Given the description of an element on the screen output the (x, y) to click on. 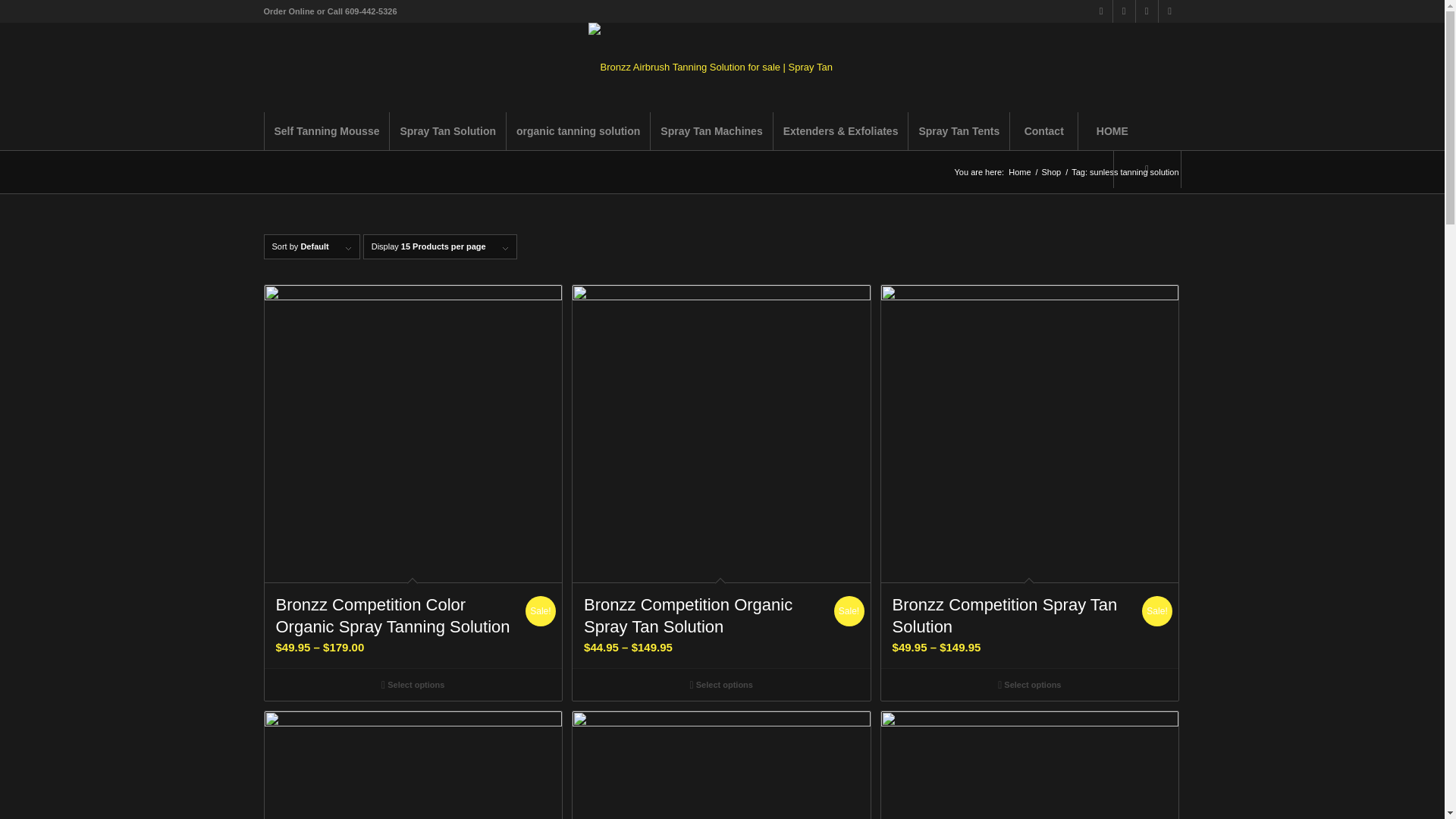
Youtube (1169, 11)
Twitter (1101, 11)
Spray Tan Solution (446, 130)
Instagram (1146, 11)
Spray Tan Machines (710, 130)
Shop (1051, 172)
Facebook (1124, 11)
organic tanning solution (577, 130)
Self Tanning Mousse (326, 130)
